Given the description of an element on the screen output the (x, y) to click on. 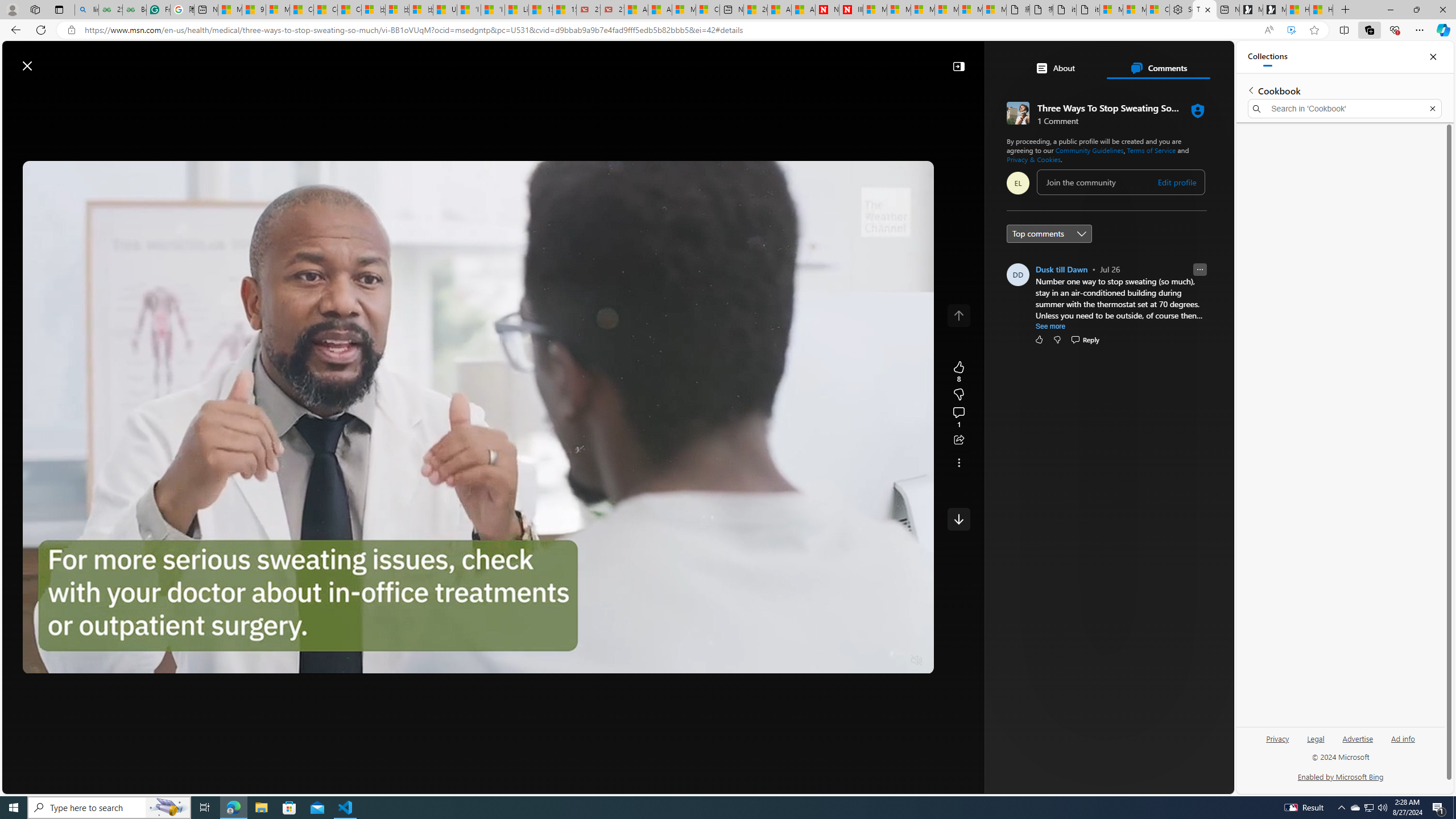
Cloud Computing Services | Microsoft Azure (708, 9)
Collapse (958, 65)
The Wall Street Journal (1060, 366)
Reply Reply Comment (1084, 339)
comment-box (1120, 181)
15 Ways Modern Life Contradicts the Teachings of Jesus (563, 9)
linux basic - Search (86, 9)
